Given the description of an element on the screen output the (x, y) to click on. 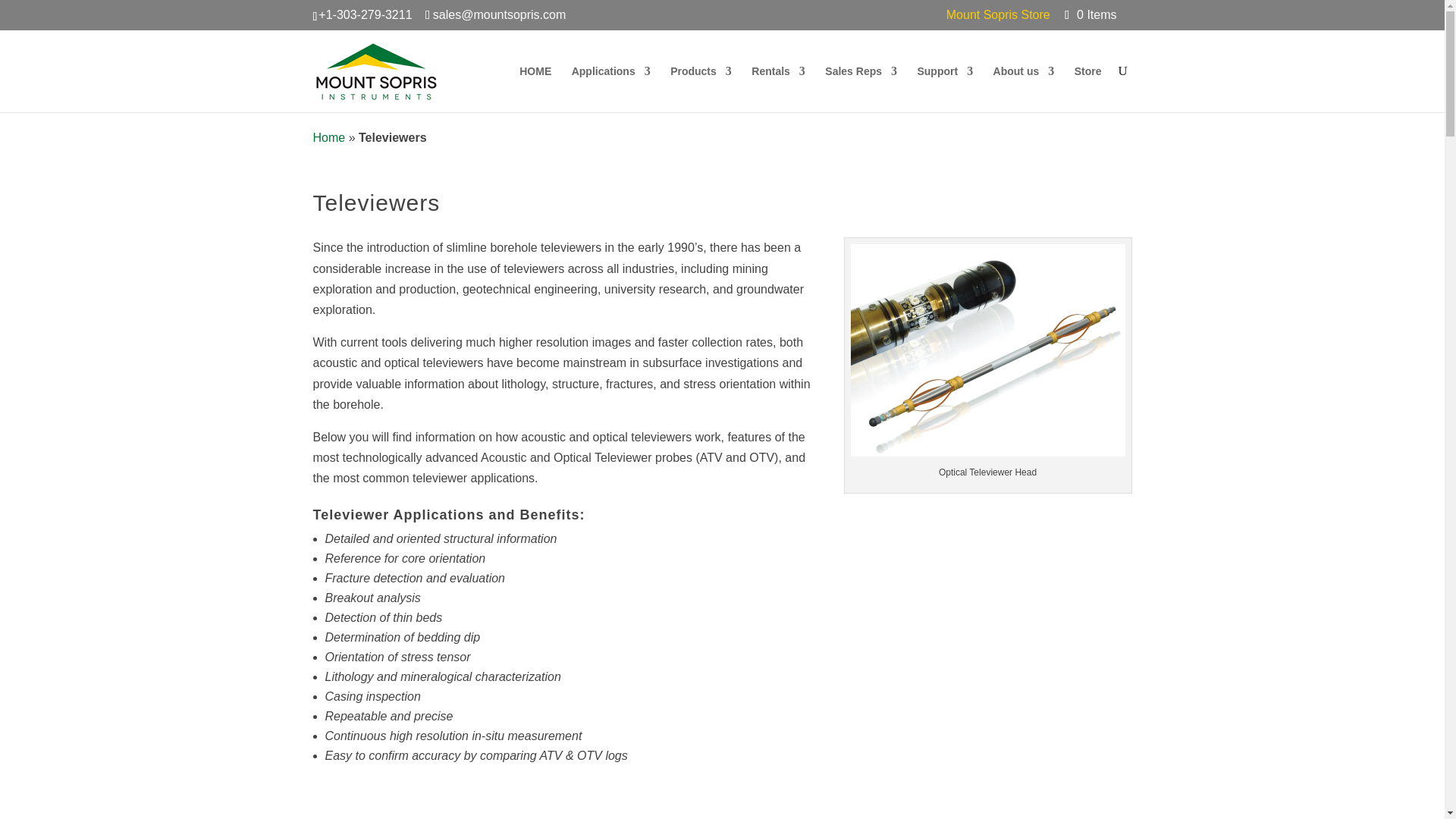
0 Items (1088, 14)
Sales Reps (860, 88)
Mount Sopris Store (997, 19)
Rentals (778, 88)
Applications (611, 88)
Products (700, 88)
Support (944, 88)
